Given the description of an element on the screen output the (x, y) to click on. 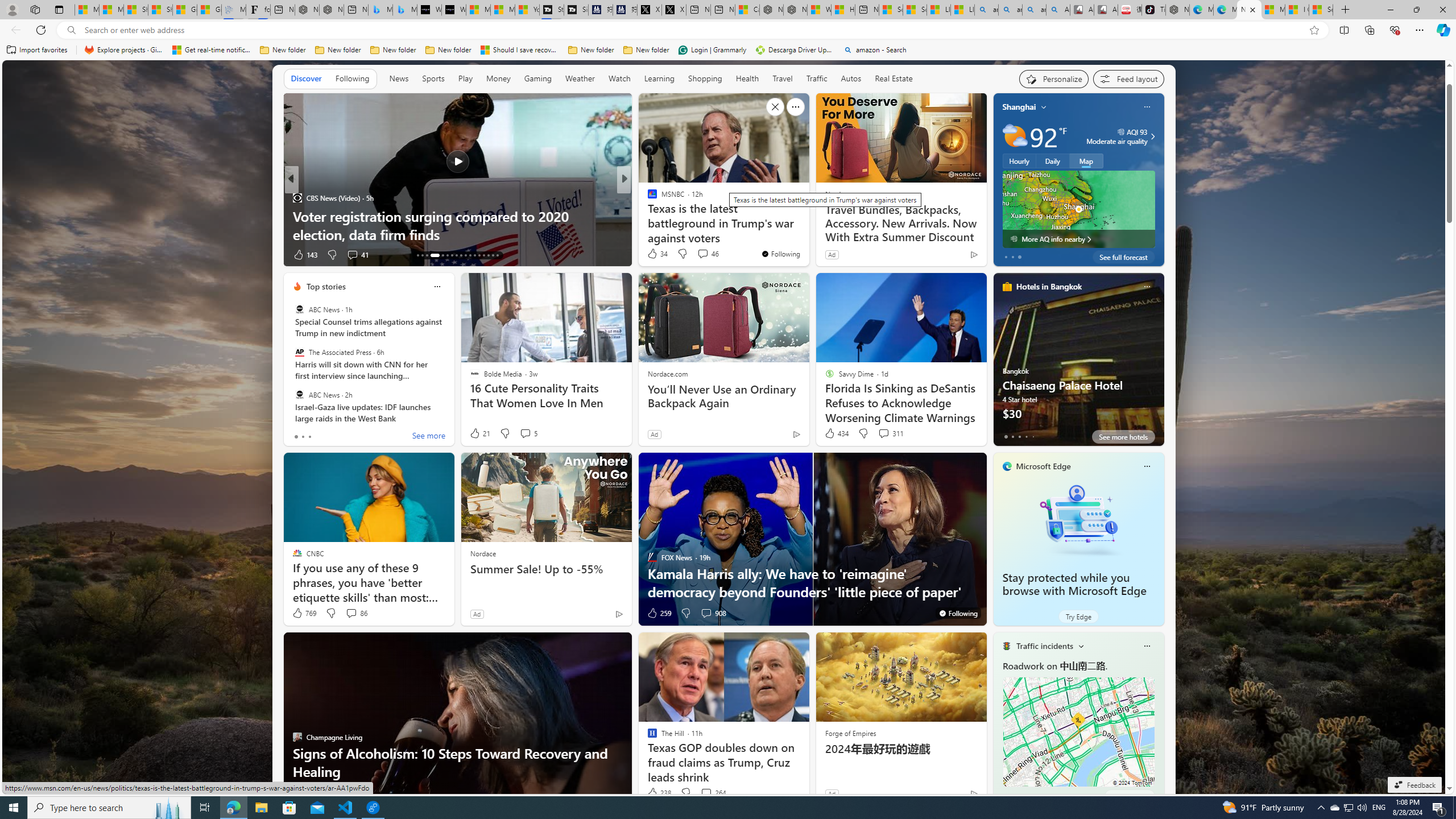
Streaming Coverage | T3 (551, 9)
Daily (1052, 160)
21 Like (479, 433)
5 tips for using a TV as a PC monitor (807, 234)
AutomationID: tab-22 (465, 255)
Nordace.com (667, 373)
View comments 264 Comment (705, 792)
AutomationID: tab-18 (446, 255)
